Given the description of an element on the screen output the (x, y) to click on. 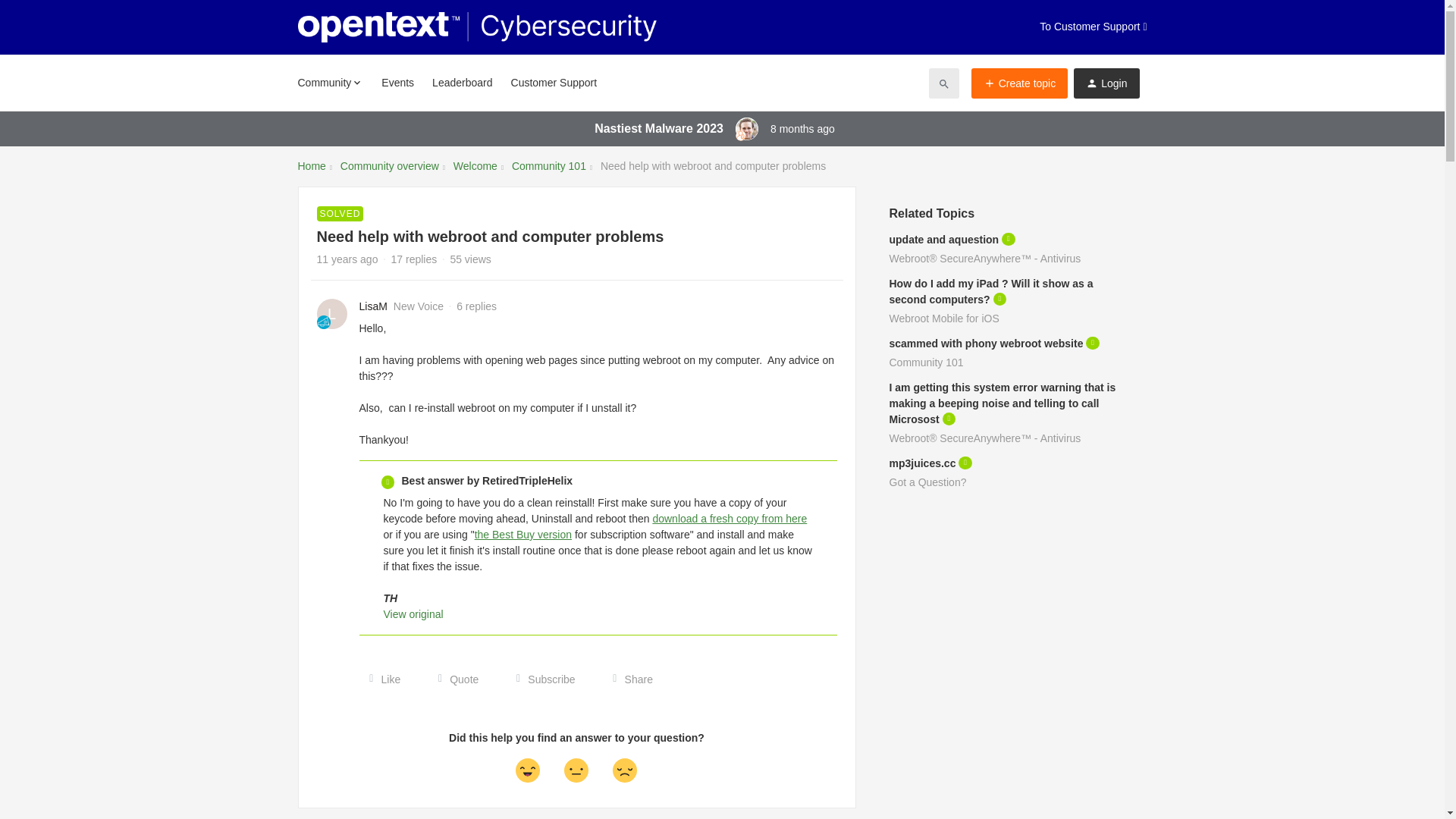
To Customer Support (1093, 26)
Community (329, 82)
